Given the description of an element on the screen output the (x, y) to click on. 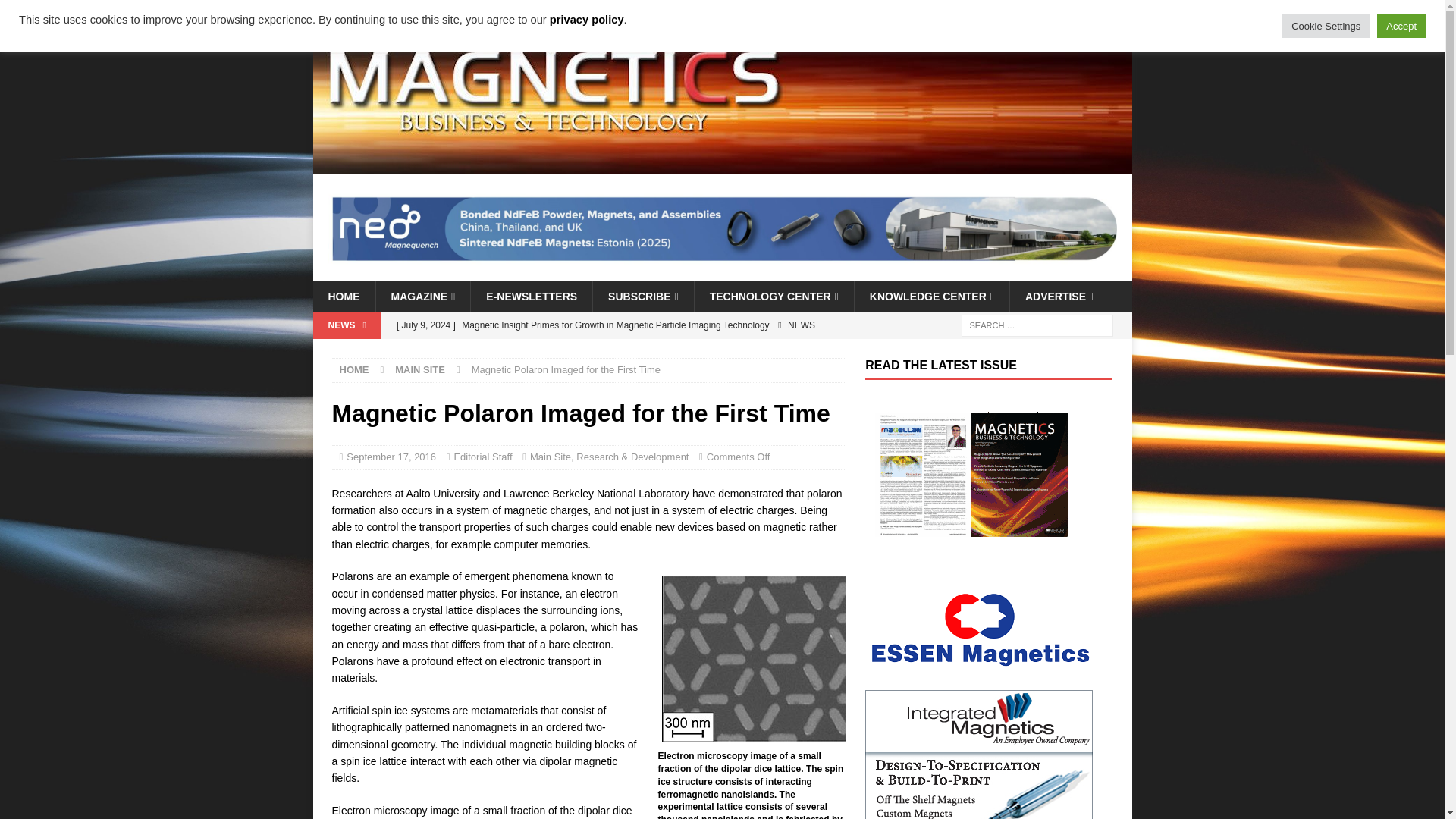
Magnetics Magazine (722, 165)
